Given the description of an element on the screen output the (x, y) to click on. 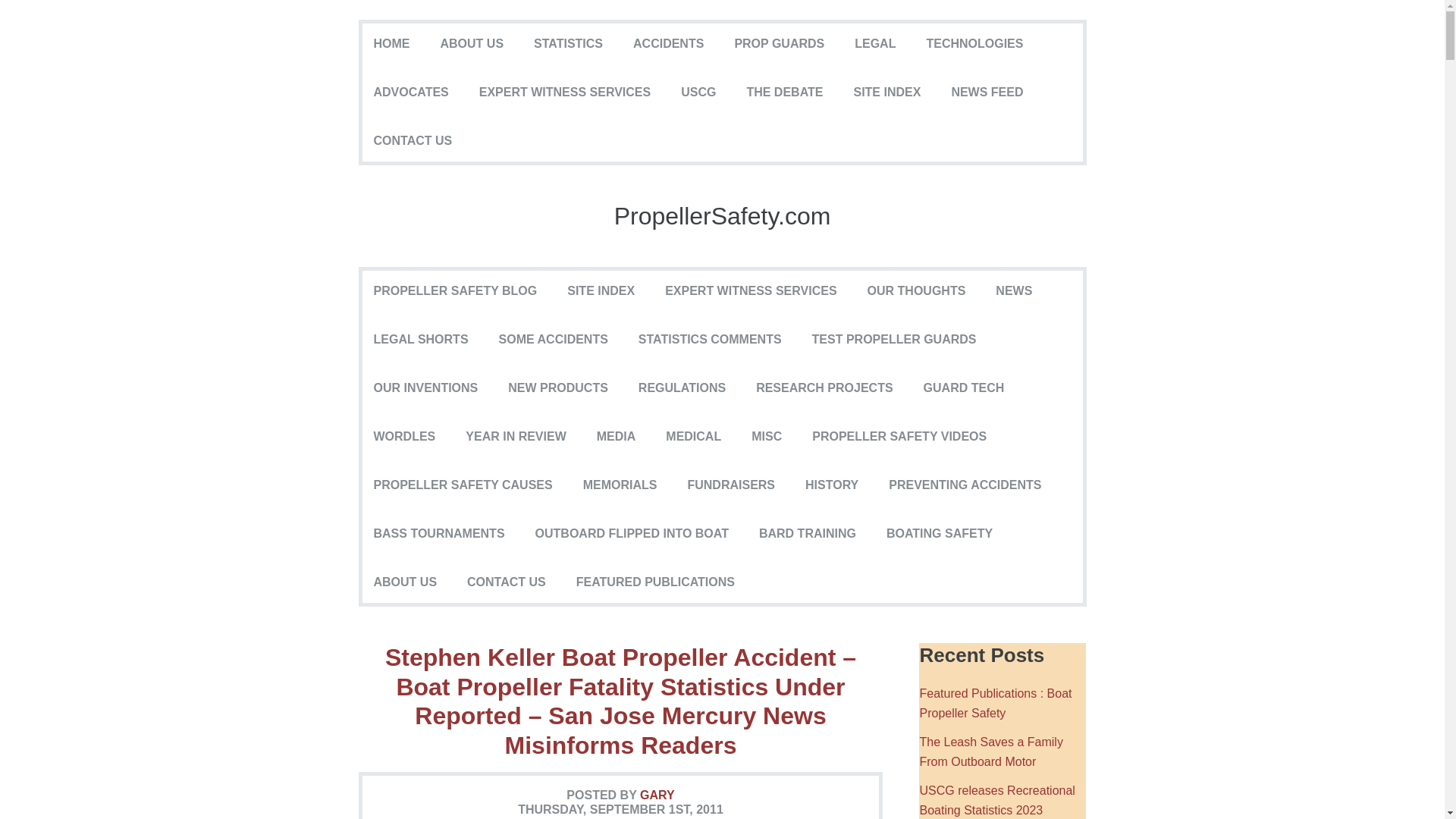
Gary (657, 794)
STATISTICS (567, 43)
HOME (391, 43)
ACCIDENTS (668, 43)
ABOUT US (471, 43)
